Given the description of an element on the screen output the (x, y) to click on. 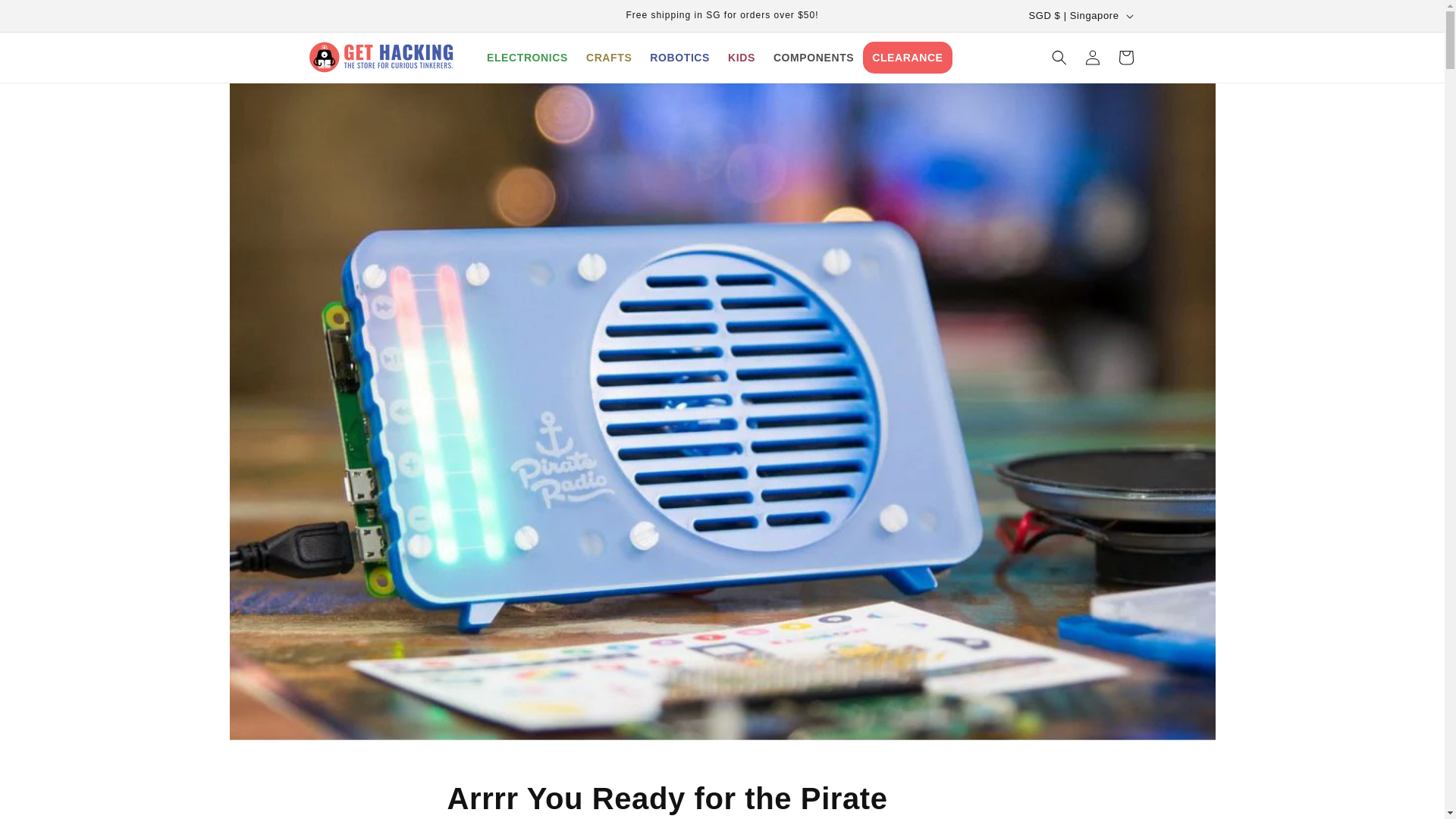
CLEARANCE (721, 798)
ELECTRONICS (907, 56)
Log in (526, 56)
KIDS (1091, 57)
ROBOTICS (741, 56)
Cart (679, 56)
CRAFTS (1124, 57)
Skip to content (608, 56)
COMPONENTS (45, 17)
